Given the description of an element on the screen output the (x, y) to click on. 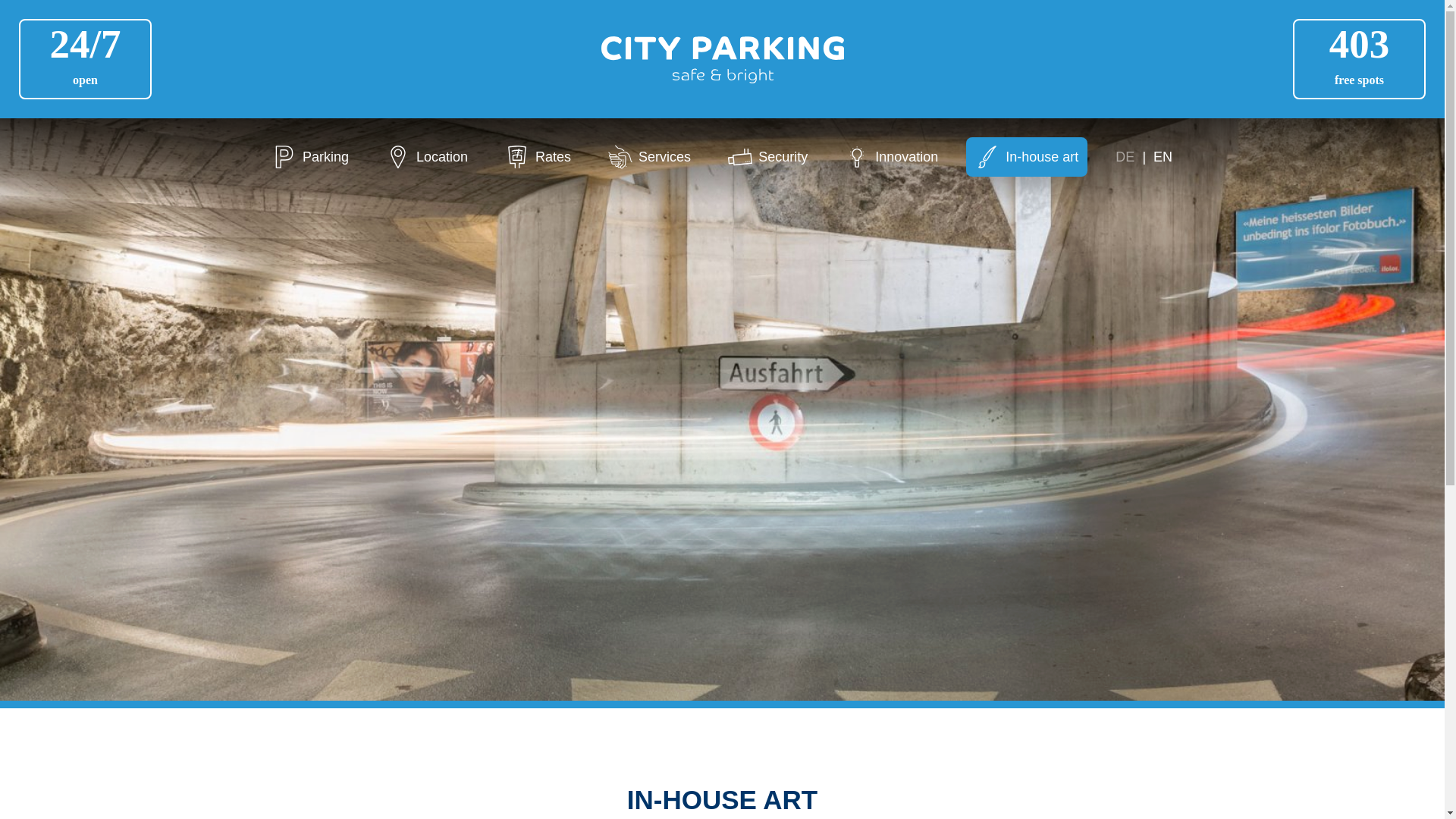
Location Element type: text (426, 156)
Parking Element type: text (310, 156)
In-house art Element type: text (1026, 156)
Security Element type: text (767, 156)
Rates Element type: text (537, 156)
Innovation Element type: text (891, 156)
Services Element type: text (649, 156)
DE  |  EN Element type: text (1143, 156)
